Given the description of an element on the screen output the (x, y) to click on. 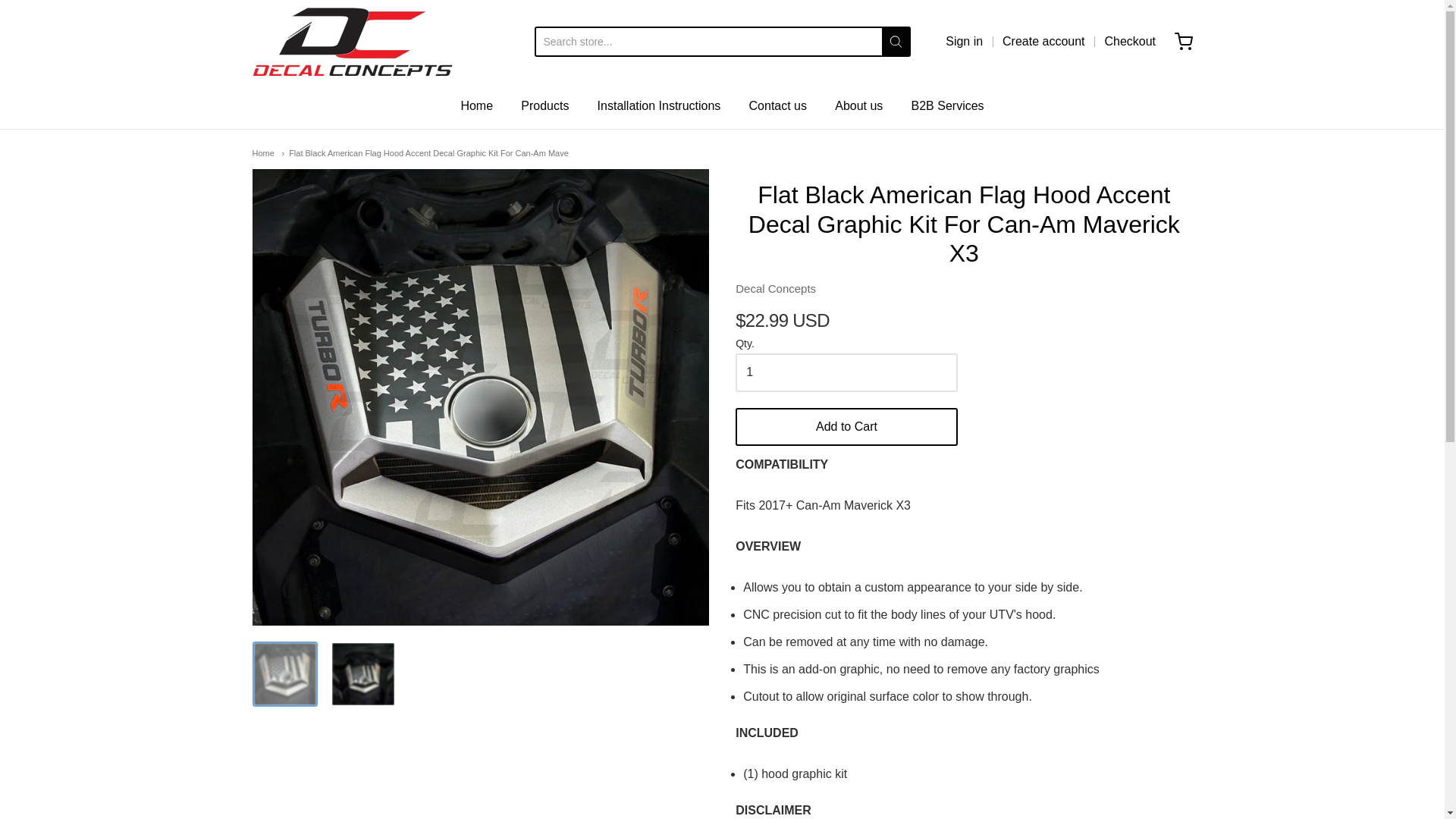
Contact us (777, 106)
B2B Services (947, 106)
Create account (1043, 41)
Sign in (963, 41)
Add to Cart (846, 426)
Decal Concepts (775, 287)
